Given the description of an element on the screen output the (x, y) to click on. 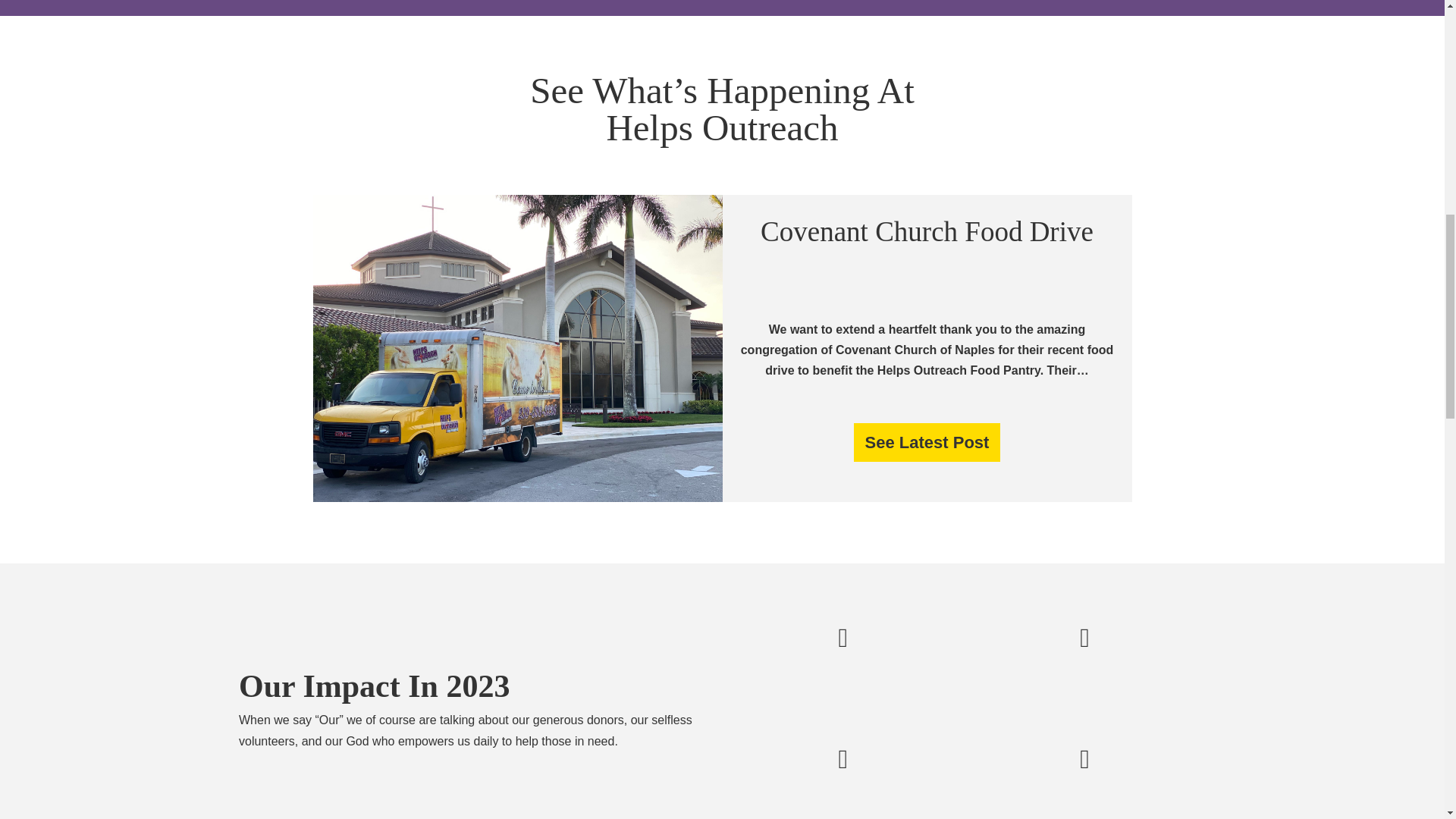
See Latest Post (927, 442)
